Given the description of an element on the screen output the (x, y) to click on. 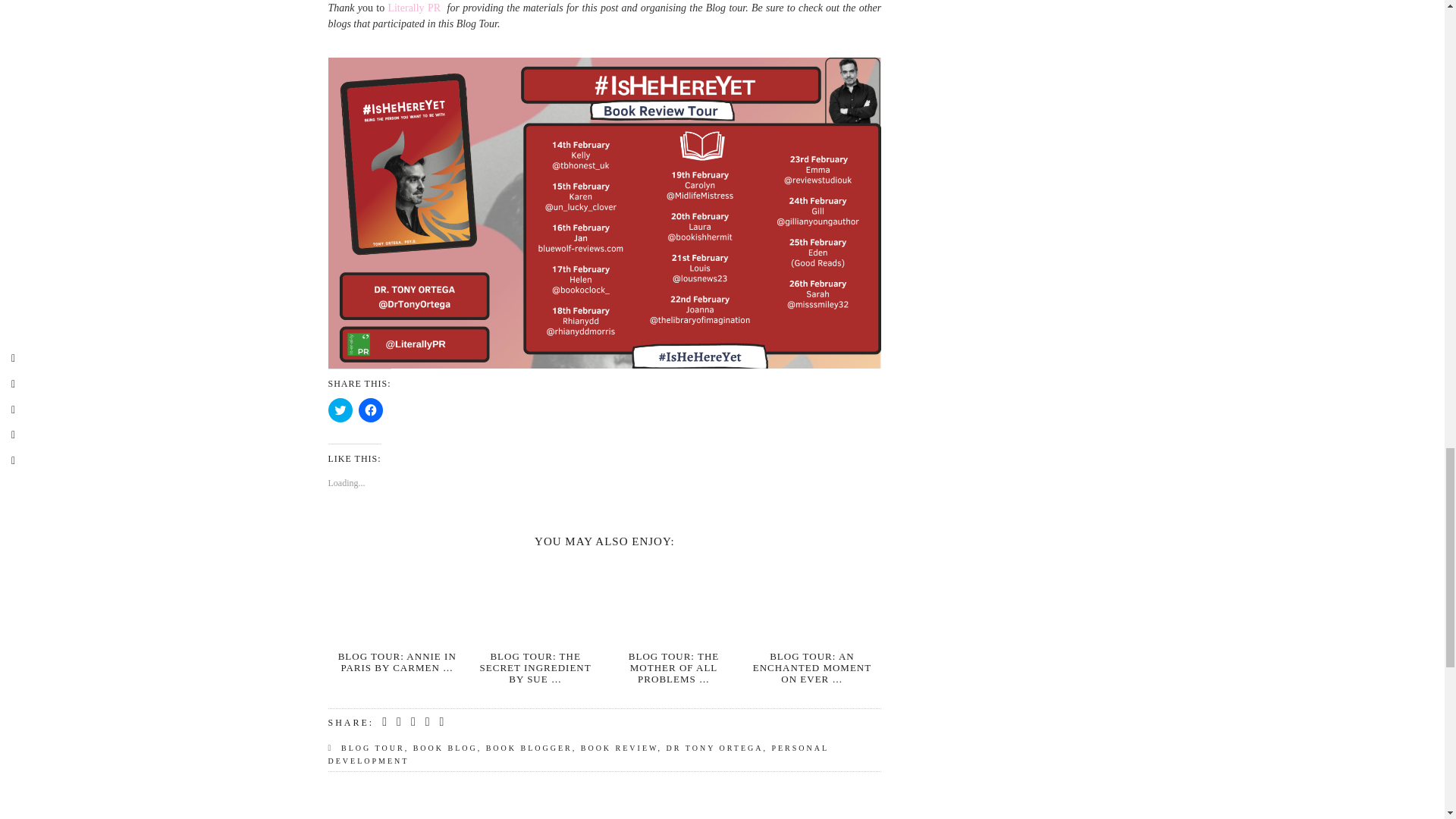
Blog Tour: Annie In Paris by Carmen Reid (396, 601)
Click to share on Facebook (369, 410)
Blog Tour: The Mother of All Problems by Nancy Peach (673, 601)
Blog Tour: Annie In Paris by Carmen Reid (397, 661)
Literally PR (414, 7)
Click to share on Twitter (339, 410)
Blog Tour: The Secret Ingredient by Sue Heath (535, 667)
Blog Tour: The Secret Ingredient by Sue Heath (535, 601)
